Given the description of an element on the screen output the (x, y) to click on. 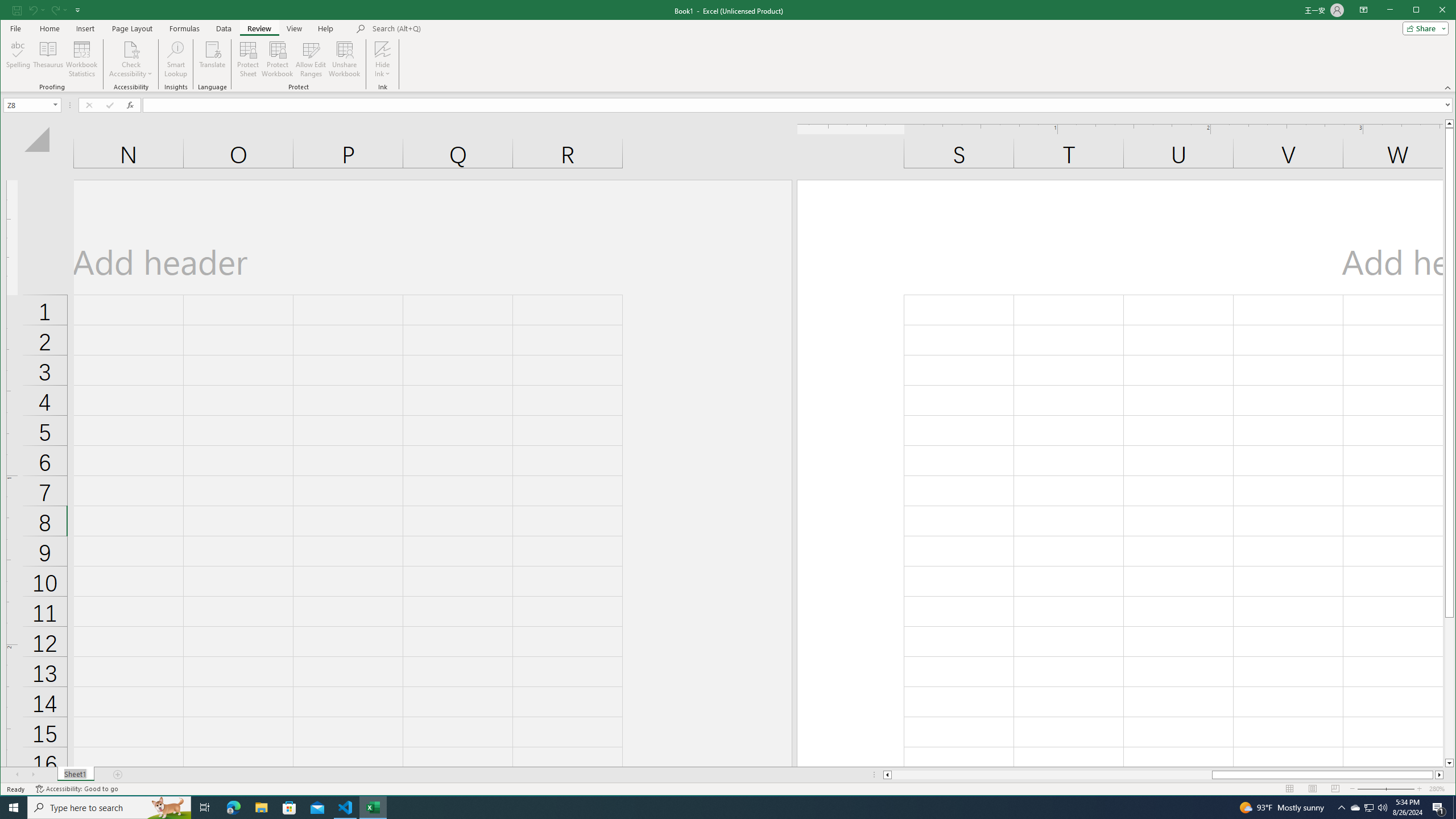
Task View (204, 807)
Hide Ink (382, 59)
Accessibility Checker Accessibility: Good to go (76, 788)
Protect Sheet... (247, 59)
Sheet Tab (75, 774)
More Options (382, 69)
Column left (886, 774)
Check Accessibility (130, 48)
Page Break Preview (1334, 788)
File Explorer (261, 807)
